Given the description of an element on the screen output the (x, y) to click on. 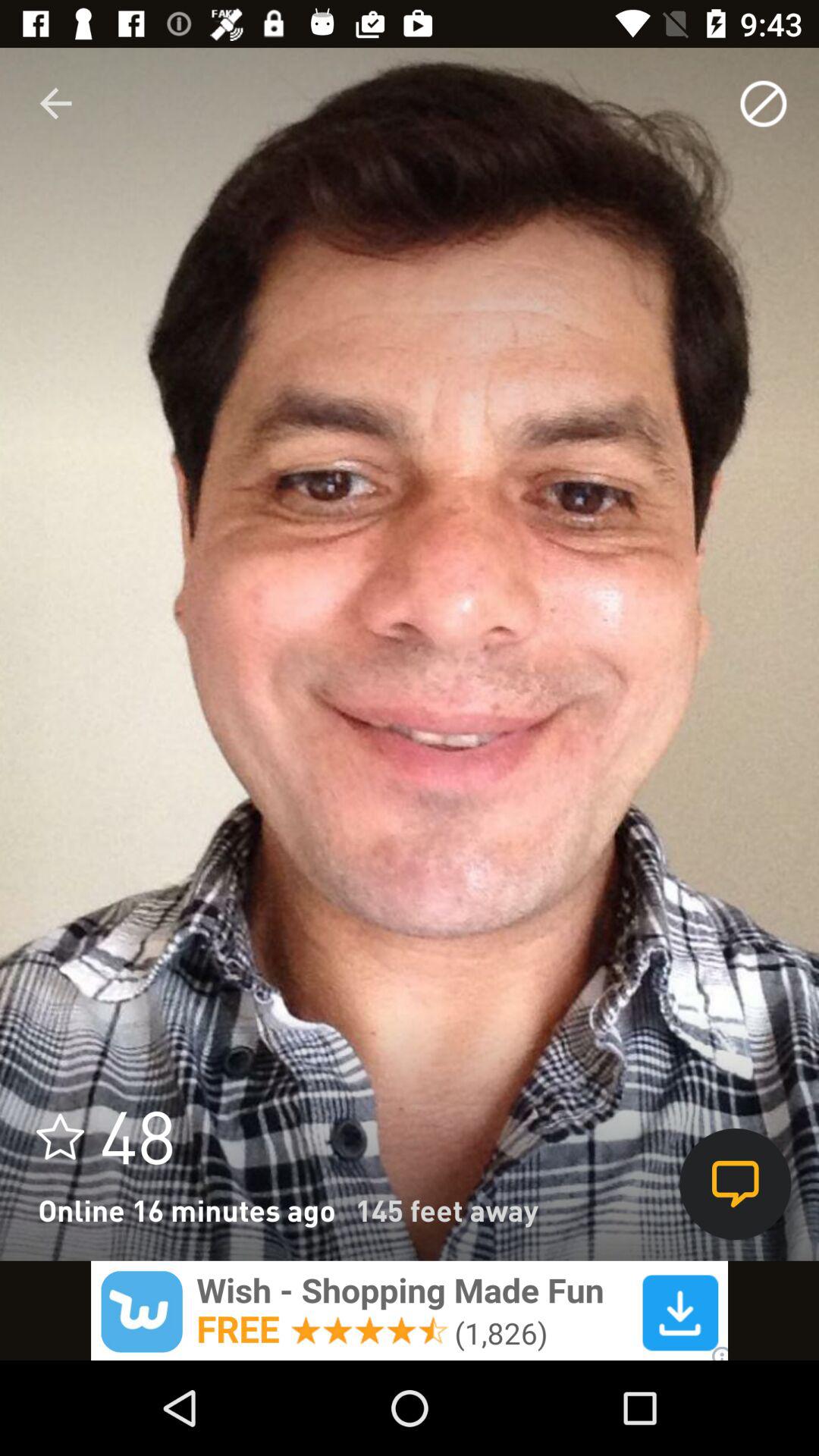
send a message (735, 1183)
